Given the description of an element on the screen output the (x, y) to click on. 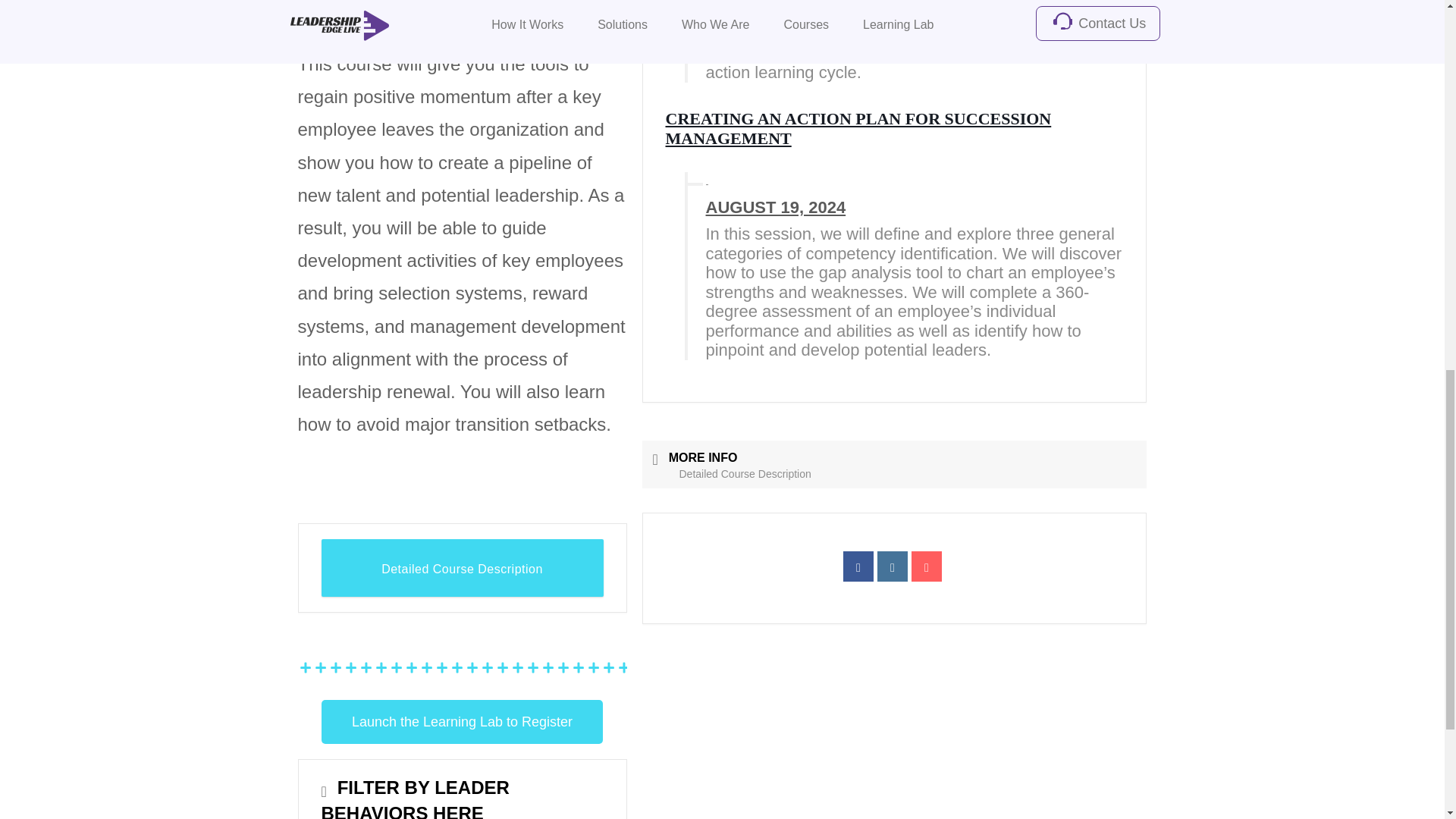
Detailed Course Description (462, 567)
Launch the Learning Lab to Register (461, 721)
Share on Facebook (858, 566)
Email (926, 566)
Linkedin (892, 566)
